Given the description of an element on the screen output the (x, y) to click on. 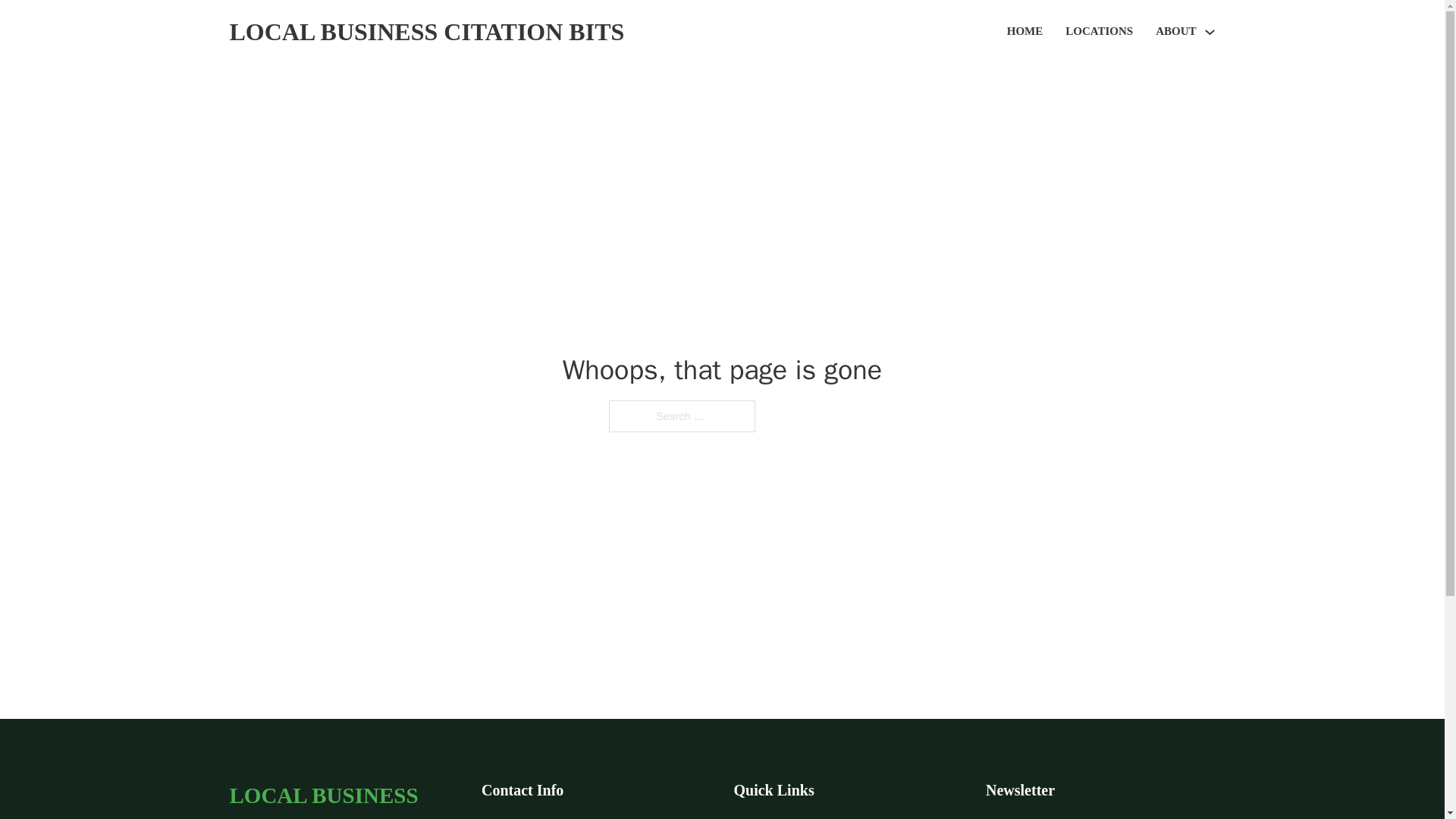
HOME (1025, 31)
LOCAL BUSINESS CITATION BITS (343, 798)
LOCATIONS (1098, 31)
LOCAL BUSINESS CITATION BITS (426, 31)
